Given the description of an element on the screen output the (x, y) to click on. 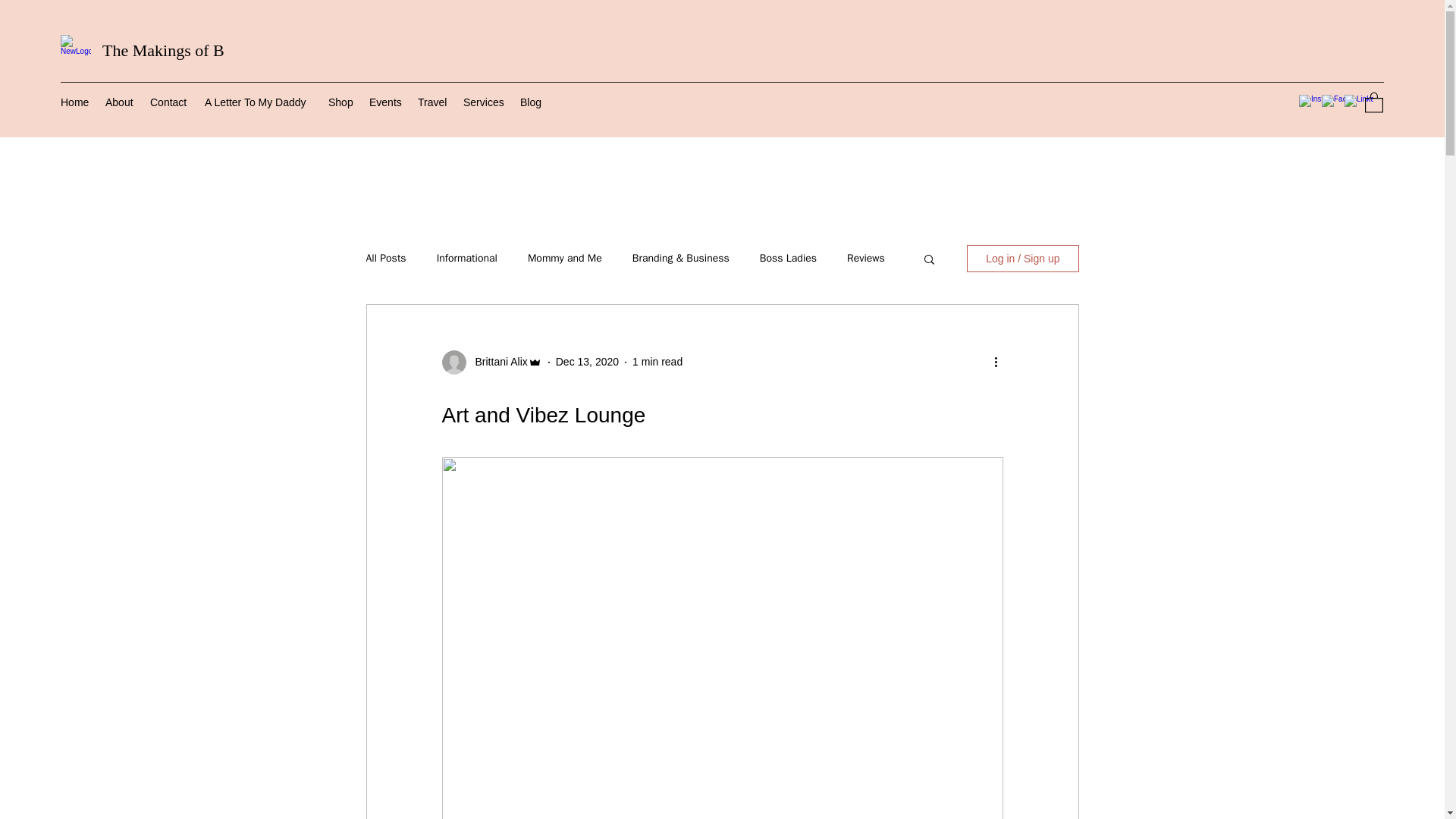
Brittani Alix (496, 361)
The Makings of B (162, 49)
Dec 13, 2020 (587, 361)
Informational (466, 258)
Contact (169, 101)
Shop (340, 101)
Mommy and Me (564, 258)
All Posts (385, 258)
Events (385, 101)
About (119, 101)
